Given the description of an element on the screen output the (x, y) to click on. 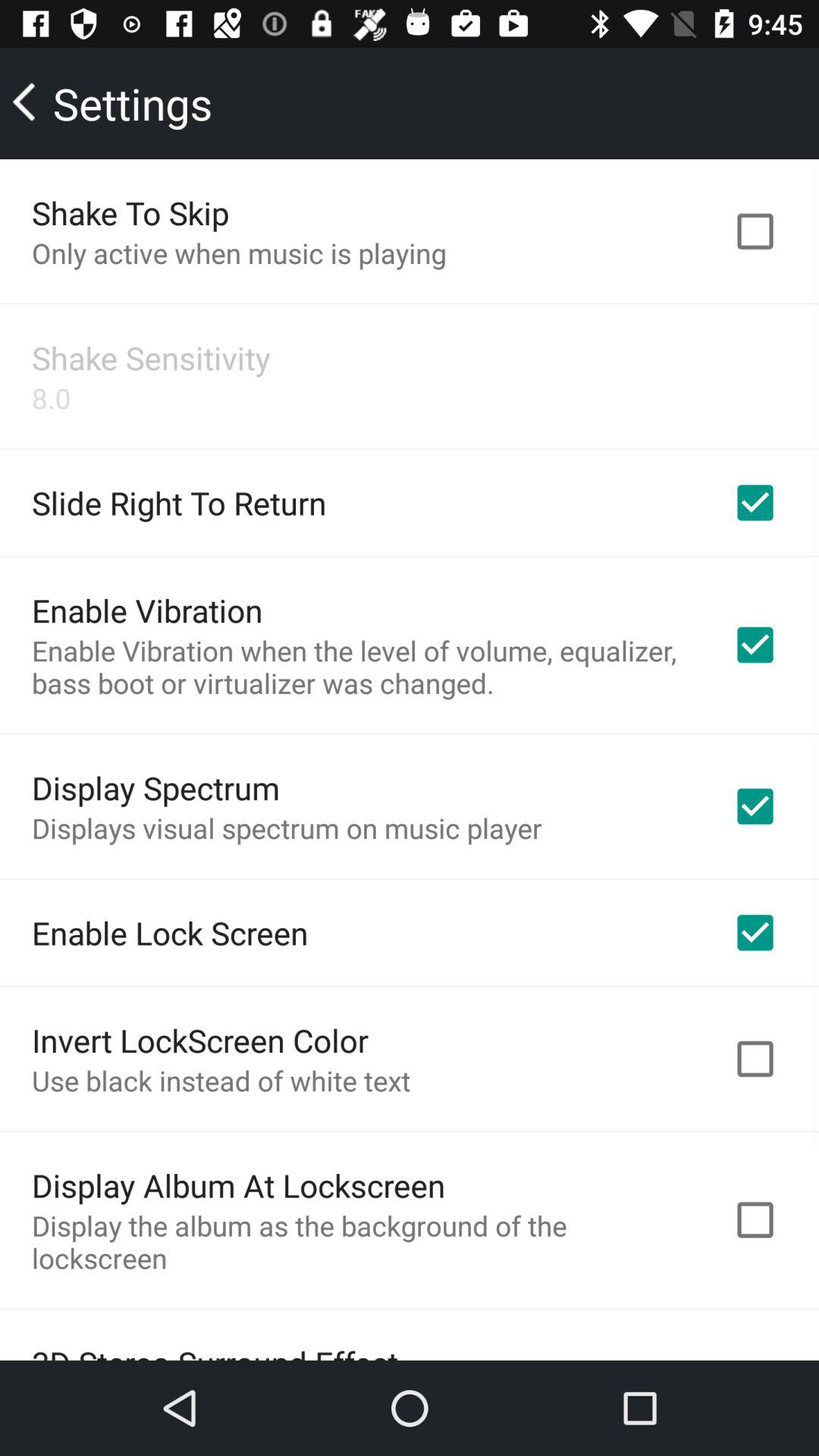
tap the item below the enable lock screen item (199, 1039)
